Given the description of an element on the screen output the (x, y) to click on. 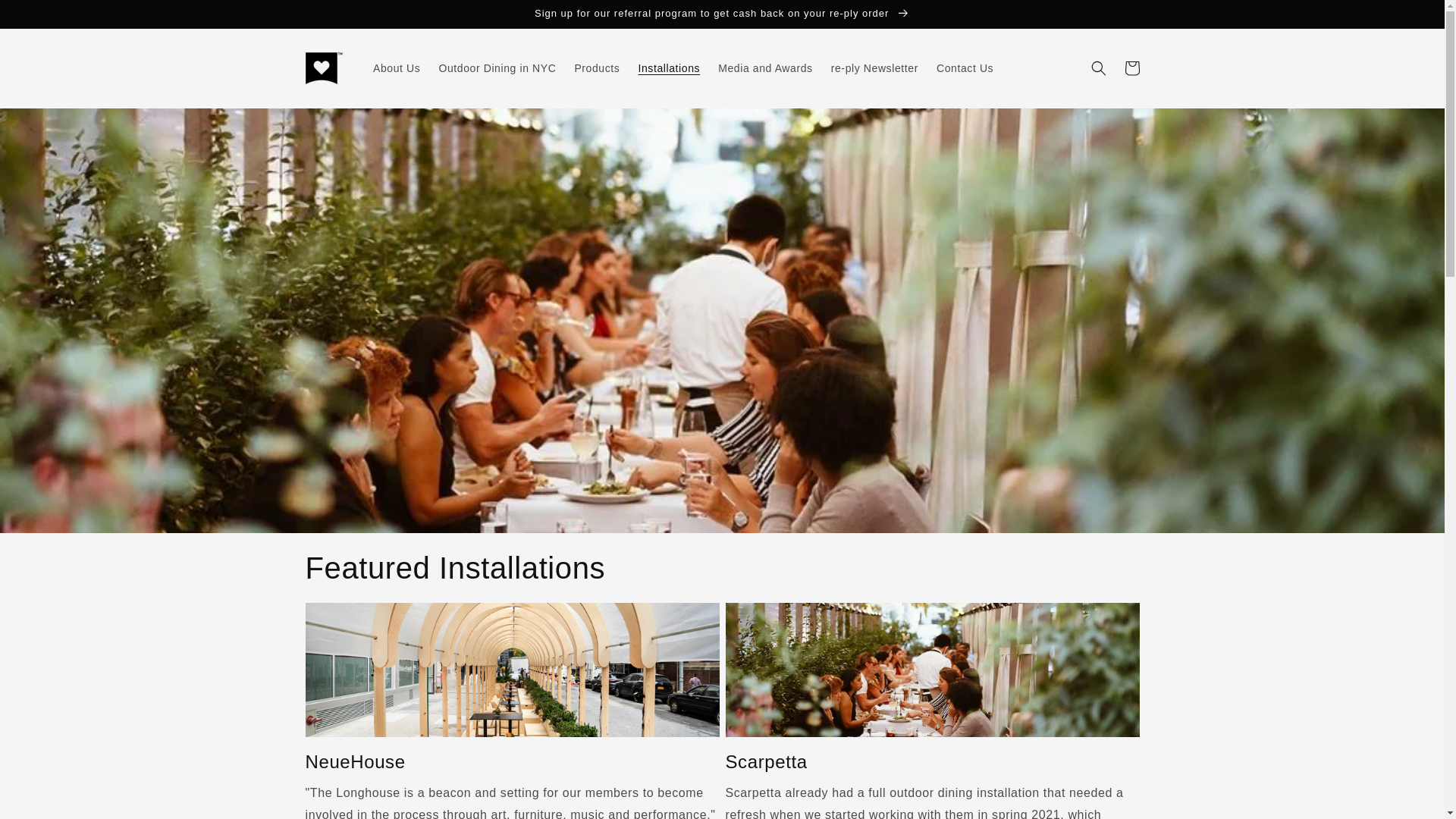
Installations (668, 68)
Scarpetta (931, 761)
Skip to content (45, 17)
About Us (396, 68)
NeueHouse (511, 761)
Products (596, 68)
Contact Us (965, 68)
re-ply Newsletter (874, 68)
Media and Awards (765, 68)
Cart (1131, 68)
Outdoor Dining in NYC (496, 68)
